Given the description of an element on the screen output the (x, y) to click on. 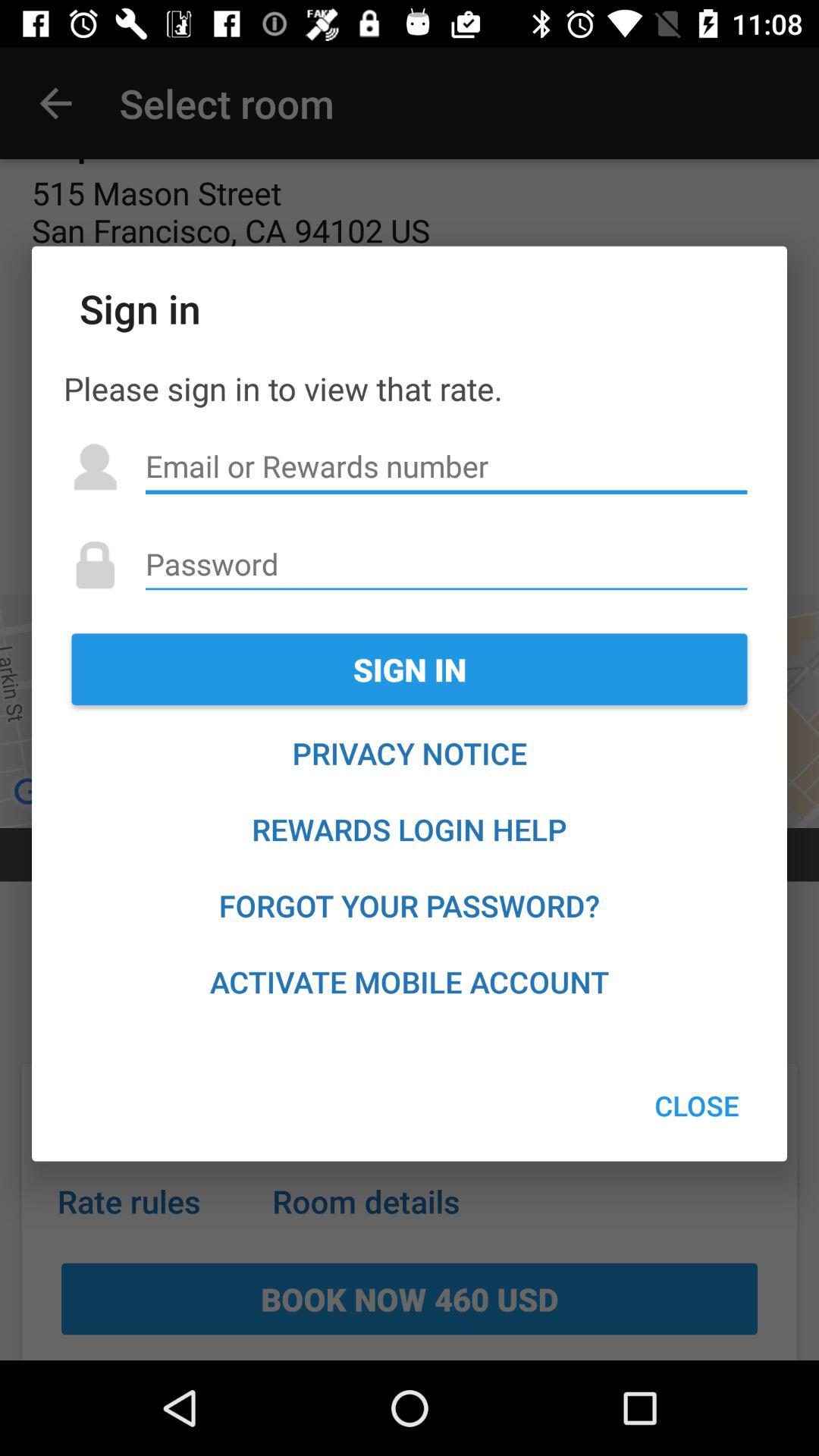
press the icon at the bottom right corner (696, 1105)
